Given the description of an element on the screen output the (x, y) to click on. 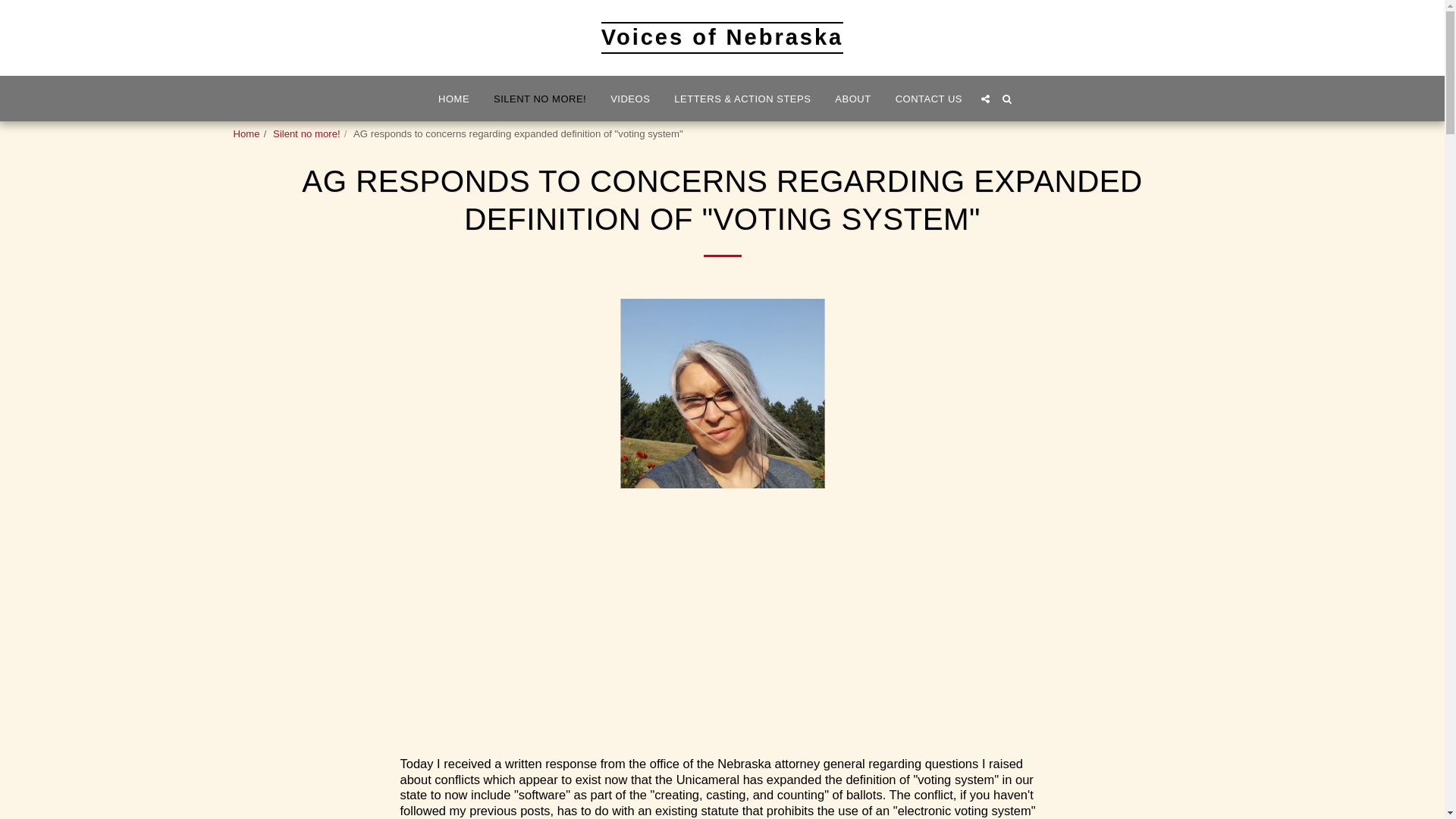
VIDEOS (629, 98)
ABOUT (853, 98)
SILENT NO MORE! (538, 98)
HOME (453, 98)
Voices of Nebraska (722, 38)
Home (246, 133)
CONTACT US (928, 98)
Silent no more! (306, 133)
